Given the description of an element on the screen output the (x, y) to click on. 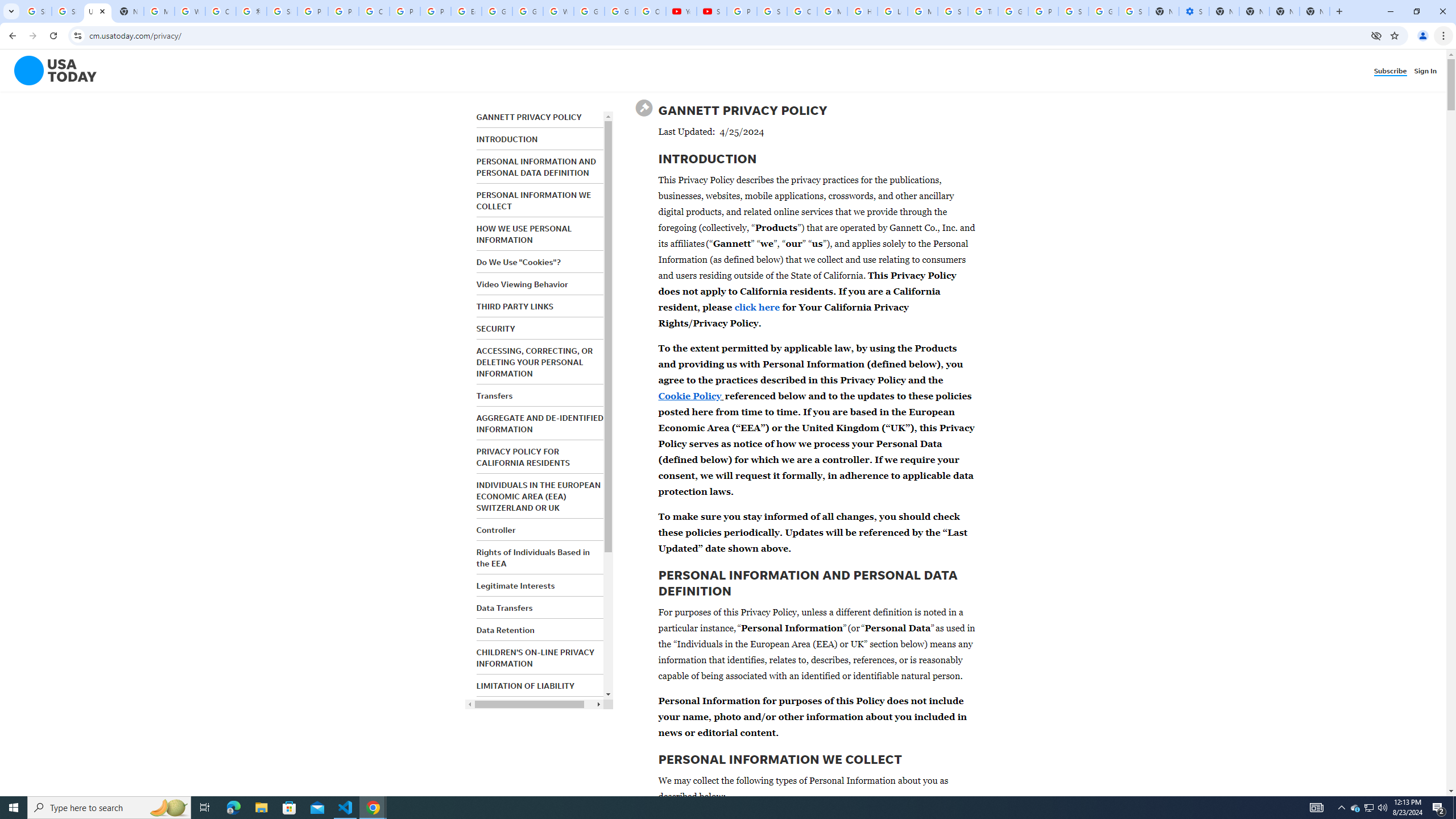
Data Transfers (504, 607)
Legitimate Interests (515, 585)
Google Ads - Sign in (1012, 11)
Google Slides: Sign-in (496, 11)
Rights of Individuals Based in the EEA (532, 557)
